Given the description of an element on the screen output the (x, y) to click on. 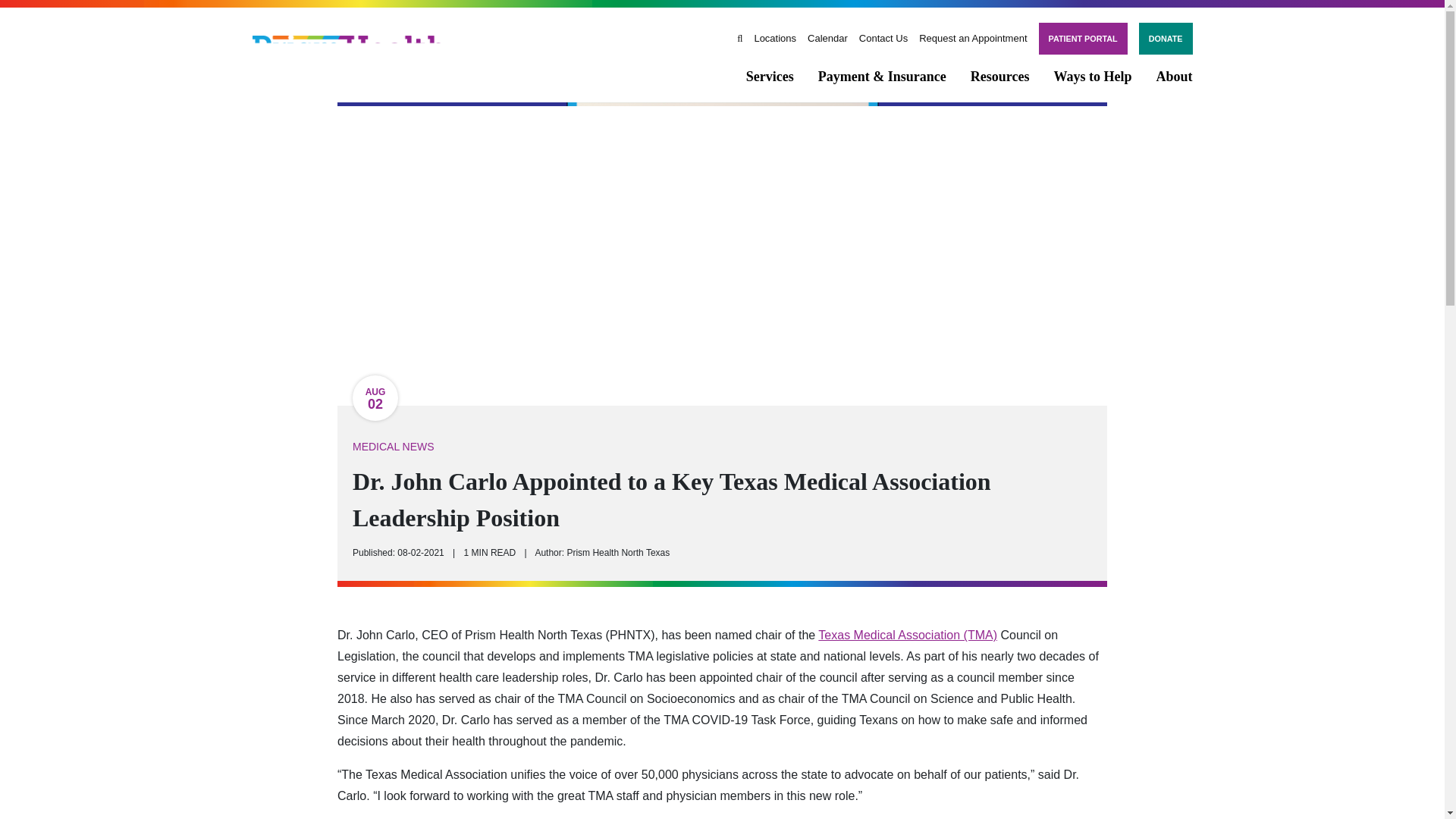
DONATE (1165, 38)
Calendar (827, 38)
Services (769, 76)
PATIENT PORTAL (1082, 38)
Contact Us (883, 38)
Locations (775, 38)
Request an Appointment (972, 38)
